Given the description of an element on the screen output the (x, y) to click on. 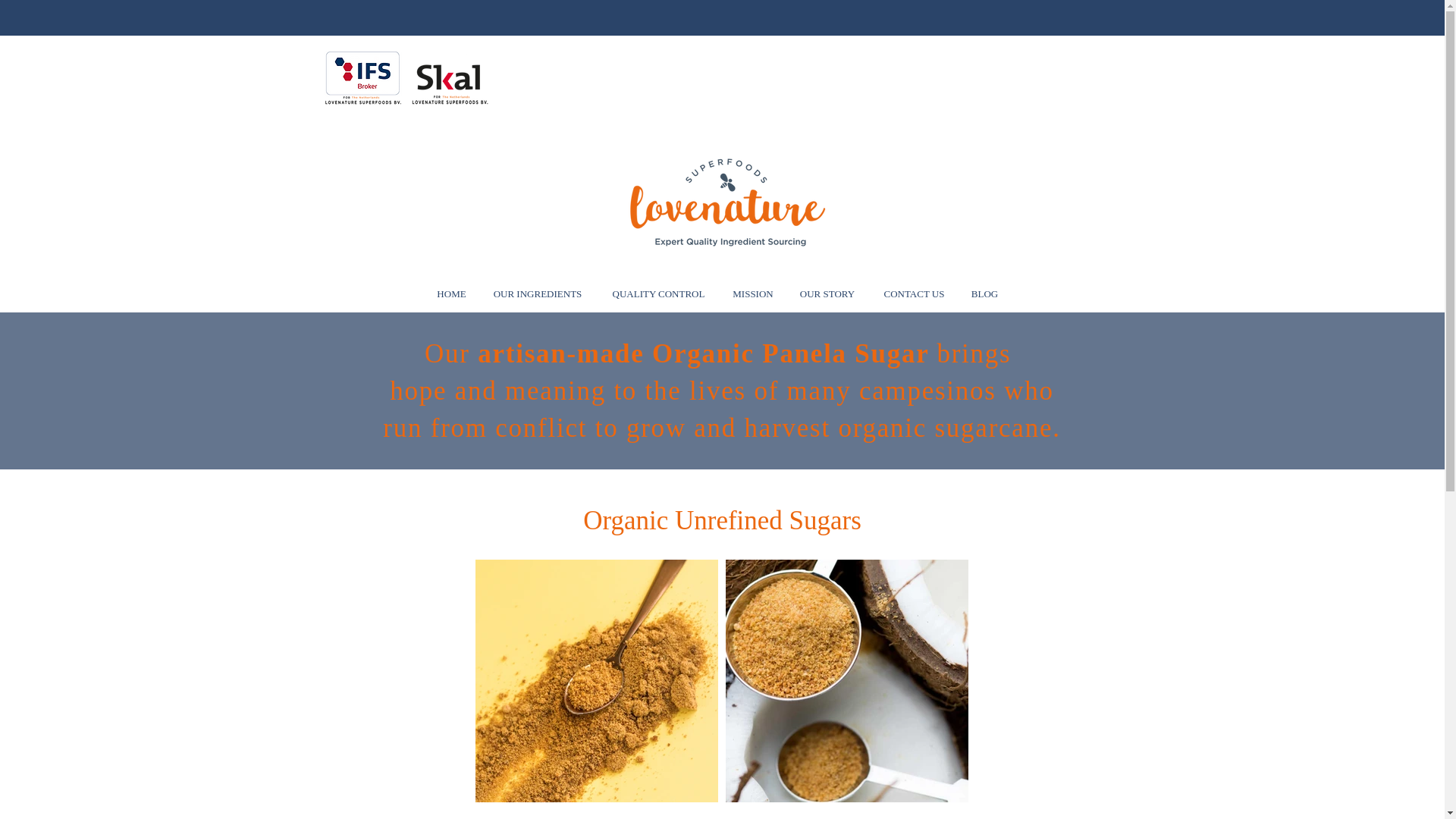
QUALITY CONTROL (658, 293)
CONTACT US (914, 293)
OUR INGREDIENTS (537, 293)
OUR STORY (827, 293)
MISSION (753, 293)
BLOG (984, 293)
HOME (452, 293)
